Given the description of an element on the screen output the (x, y) to click on. 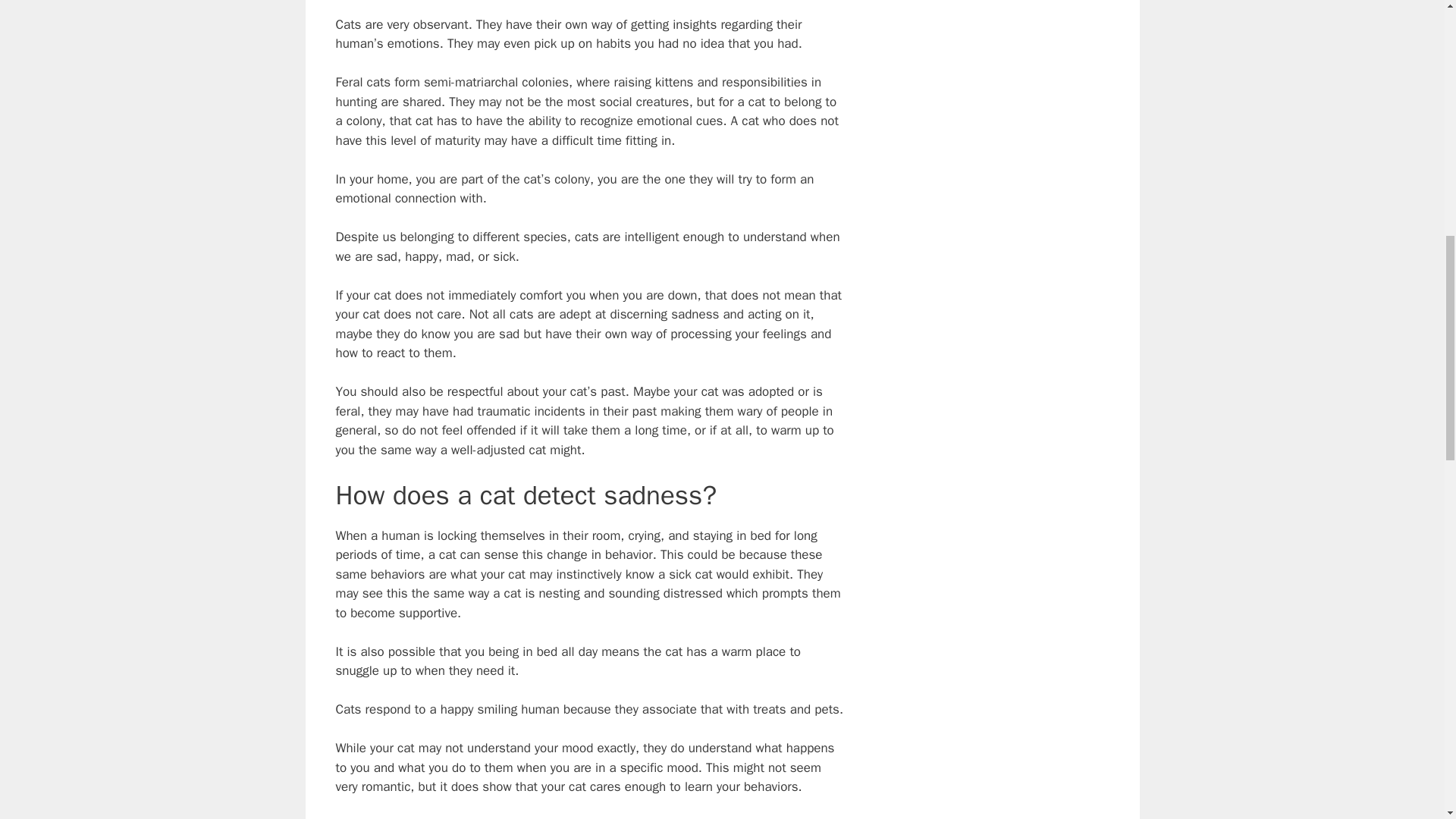
Scroll back to top (1406, 720)
